Given the description of an element on the screen output the (x, y) to click on. 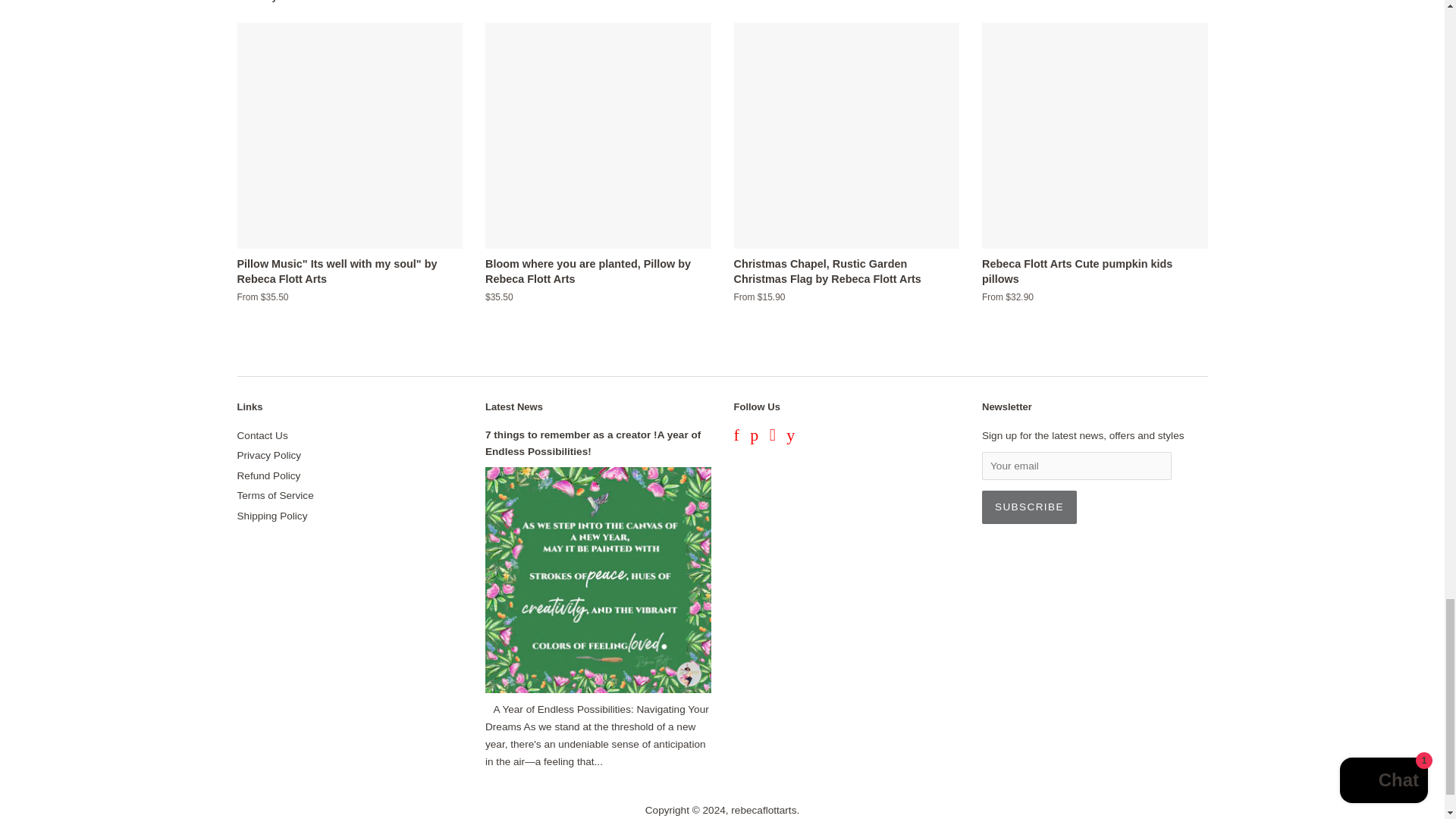
Subscribe (1029, 507)
